Given the description of an element on the screen output the (x, y) to click on. 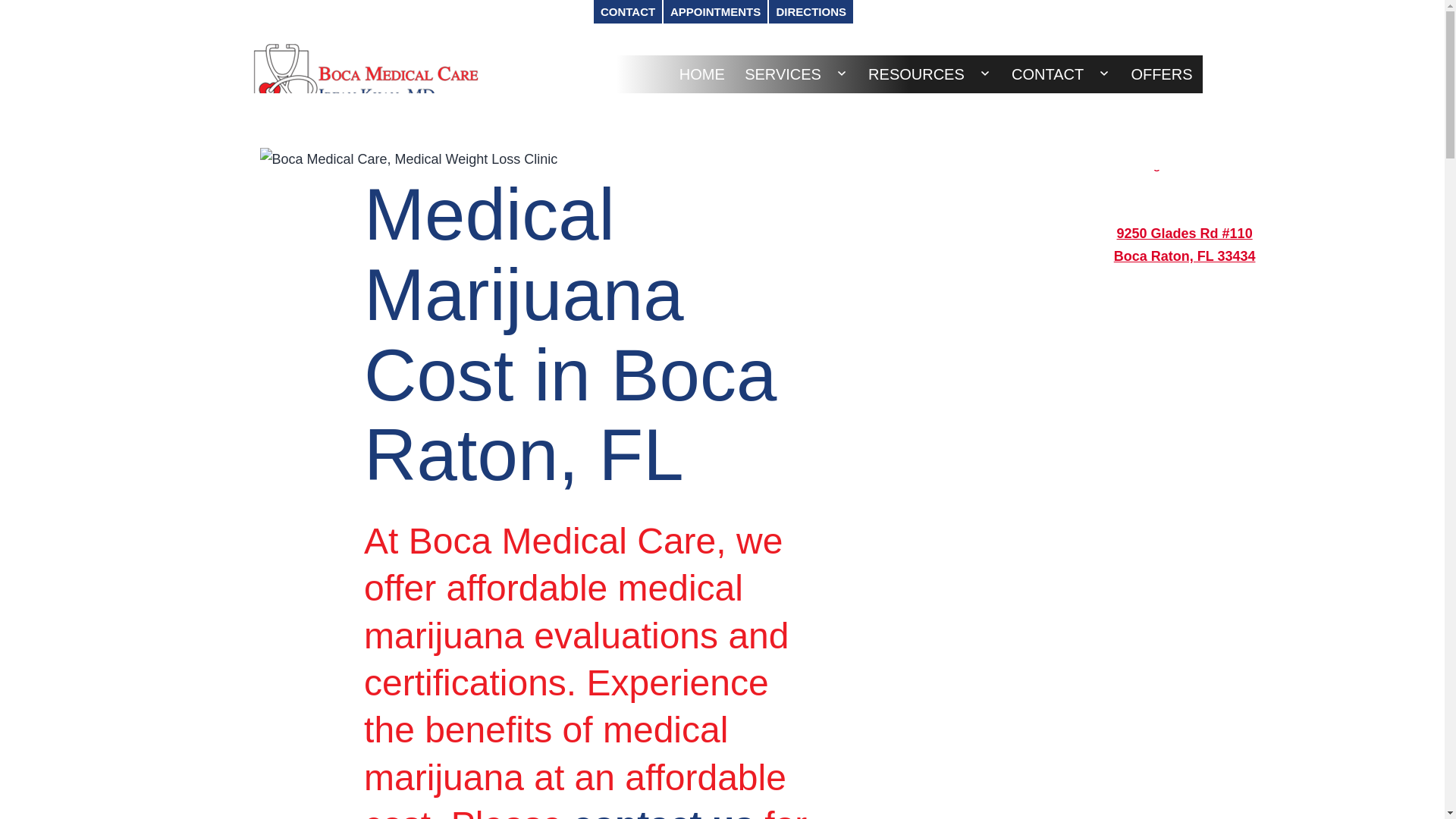
DIRECTIONS (810, 11)
Boca Medical Care, Medical Weight Loss Clinic (408, 159)
RESOURCES (916, 73)
APPOINTMENTS (715, 11)
SERVICES (783, 73)
Open menu (842, 73)
Open menu (984, 73)
HOME (702, 73)
CONTACT (628, 11)
Directions to Boca Medical Care in Boca Raton, FL (1184, 164)
